Given the description of an element on the screen output the (x, y) to click on. 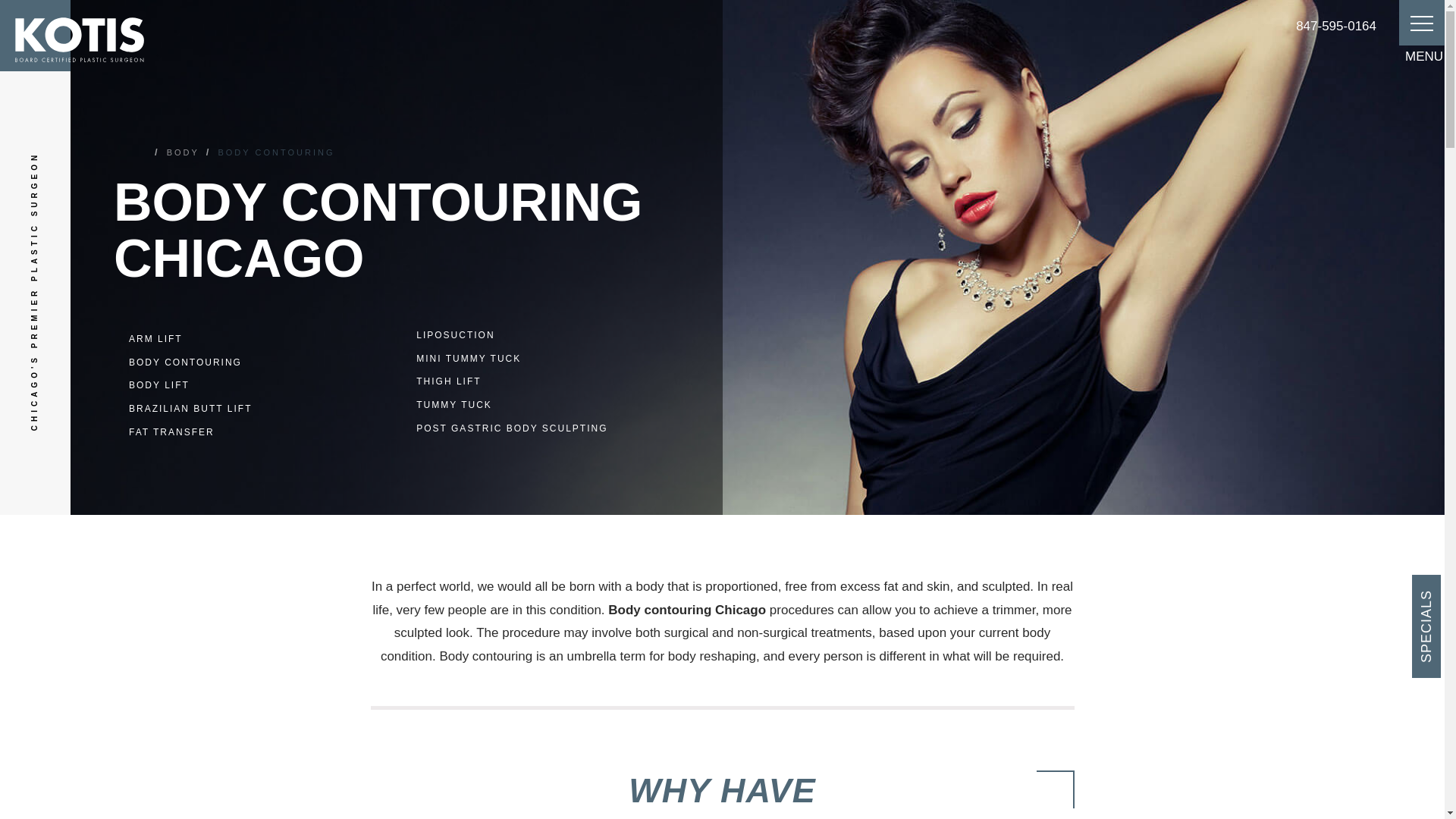
847-595-0164 (1335, 25)
